Given the description of an element on the screen output the (x, y) to click on. 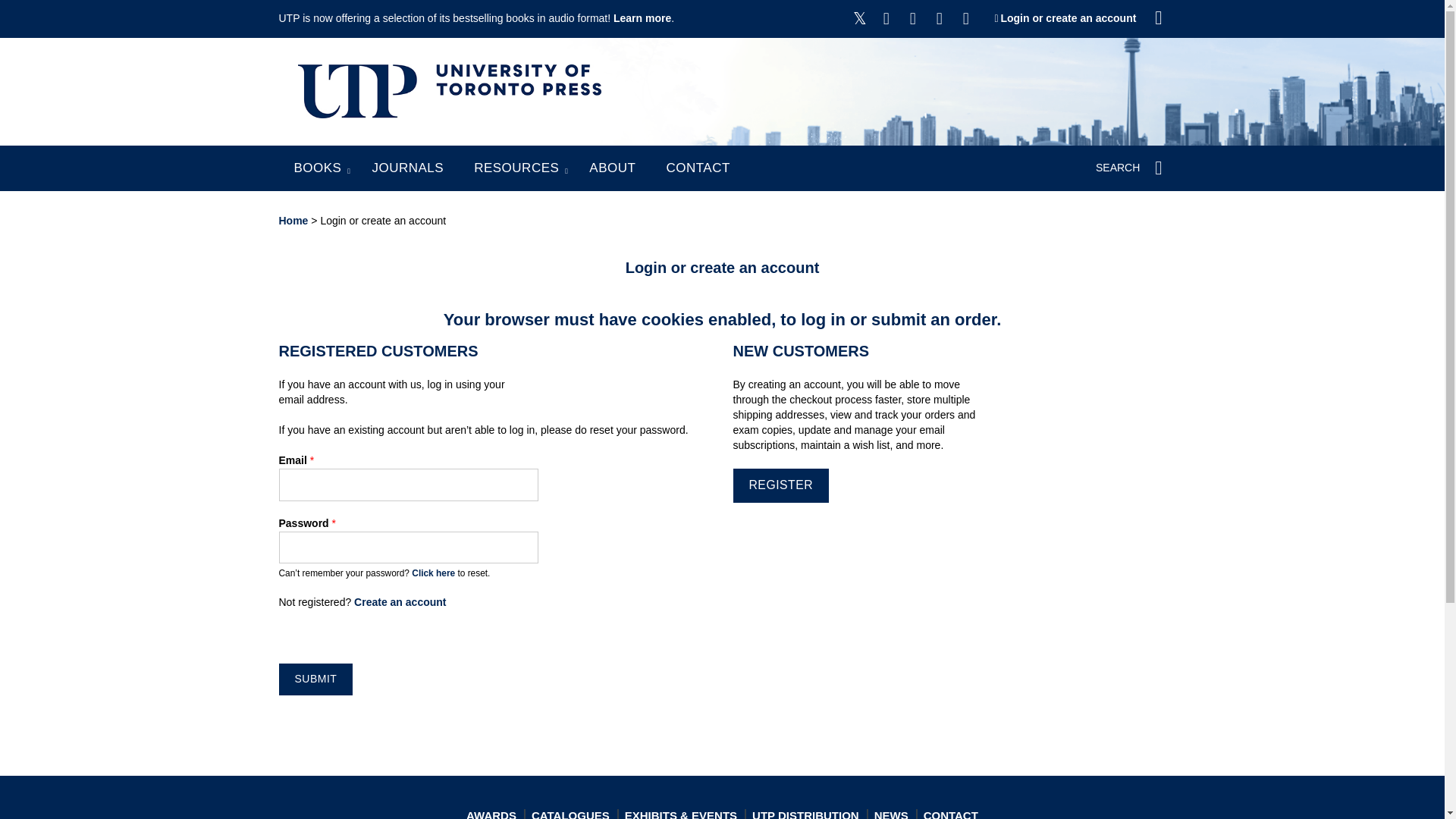
CONTACT (697, 168)
Follow us on Instagram (912, 18)
RESOURCES (516, 168)
ABOUT (611, 168)
SEARCH (1131, 168)
Follow us on LinkedIn (965, 18)
Home (293, 220)
JOURNALS (407, 168)
BOOKS (318, 168)
Create an account (399, 602)
Create an account (399, 602)
Click here (433, 573)
Follow us on Facebook (886, 18)
Follow us on YouTube (939, 18)
Learn more (641, 18)
